Given the description of an element on the screen output the (x, y) to click on. 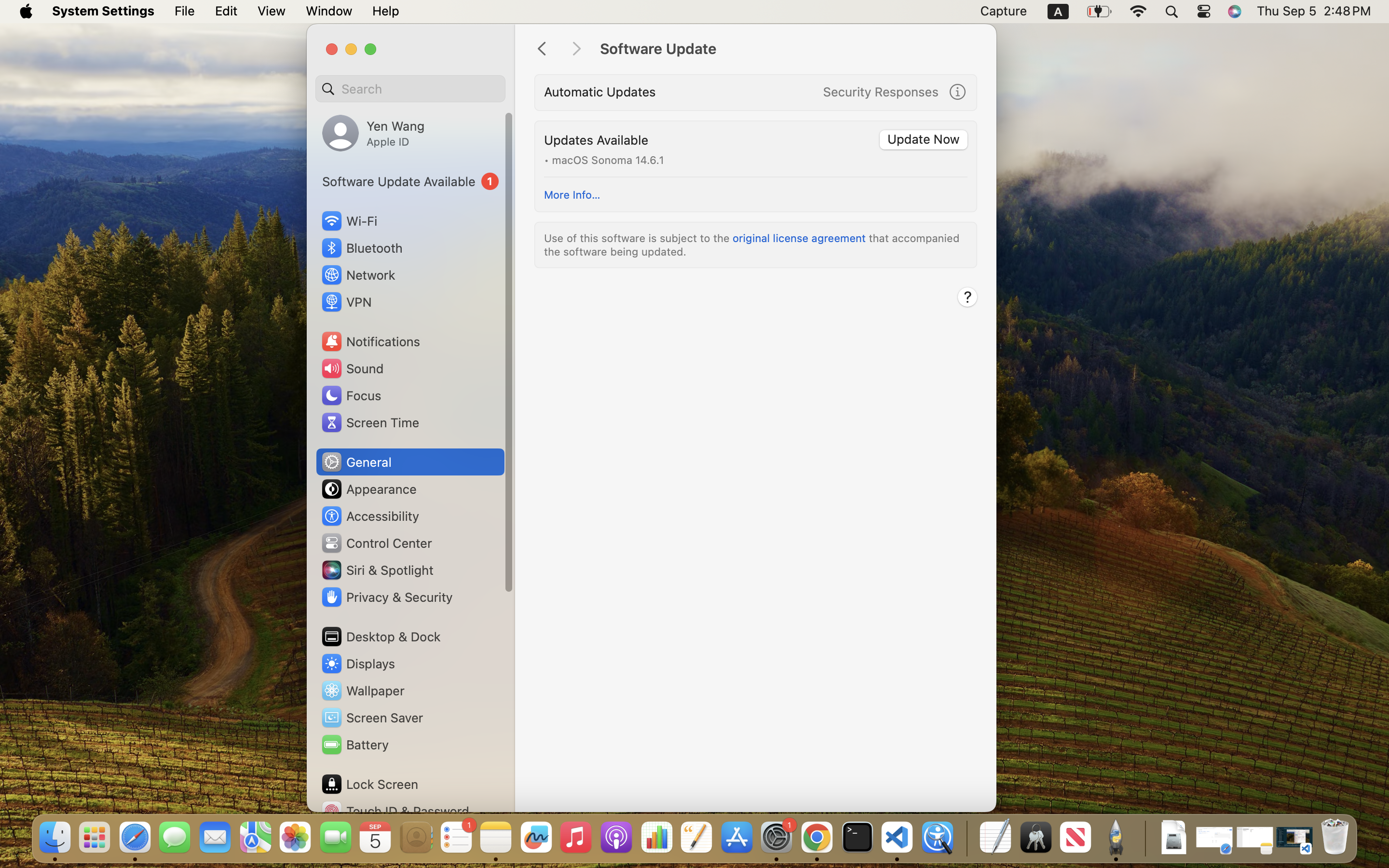
Sound Element type: AXStaticText (351, 367)
Security Responses Element type: AXStaticText (880, 91)
0.4285714328289032 Element type: AXDockItem (965, 837)
Automatic Updates Element type: AXStaticText (599, 91)
Lock Screen Element type: AXStaticText (369, 783)
